Given the description of an element on the screen output the (x, y) to click on. 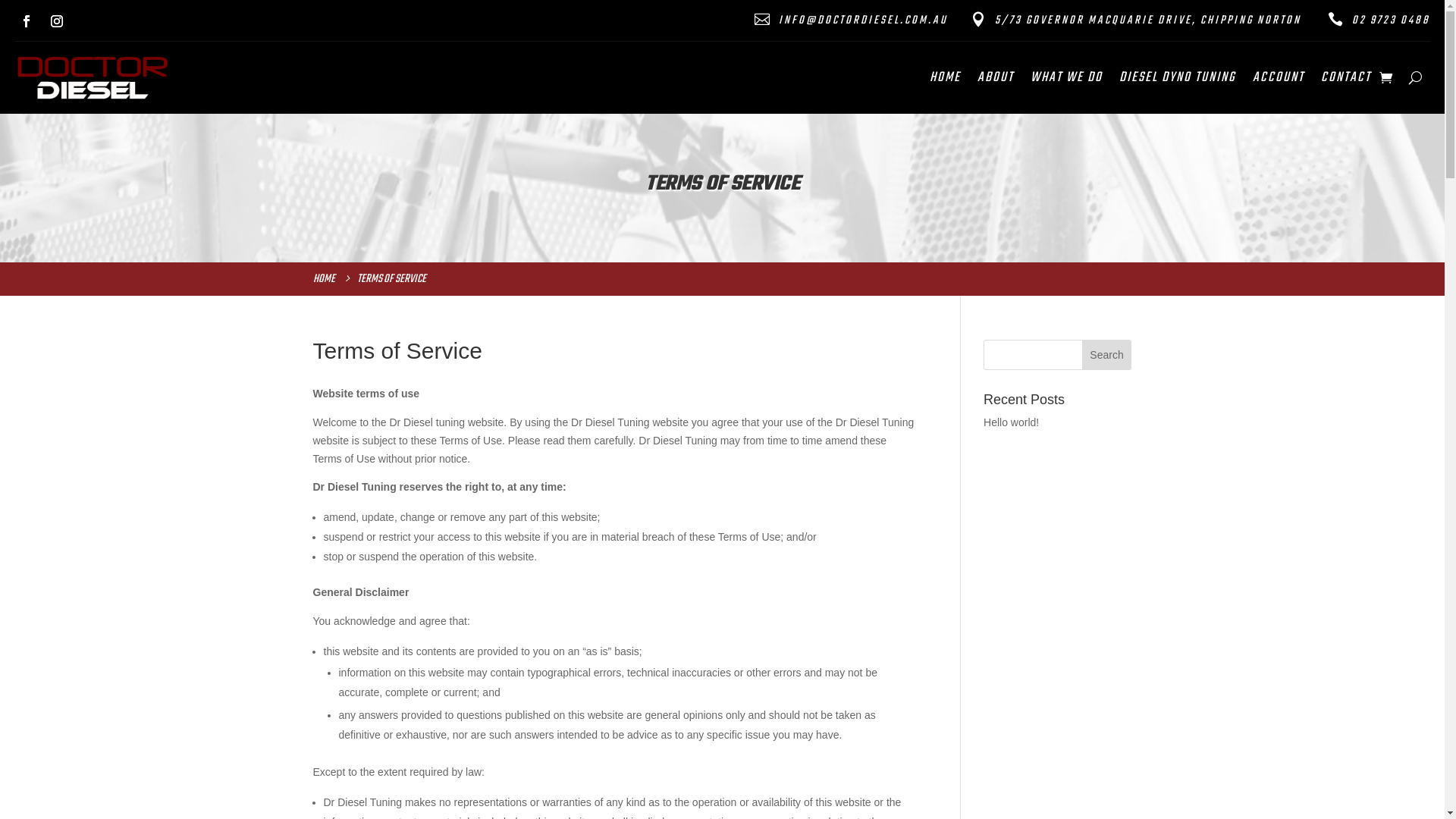
ABOUT Element type: text (995, 80)
Hello world! Element type: text (1010, 422)
Follow on Instagram Element type: hover (56, 21)
Follow on Facebook Element type: hover (26, 21)
WHAT WE DO Element type: text (1066, 80)
Search Element type: text (1107, 354)
ACCOUNT Element type: text (1278, 80)
DIESEL DYNO TUNING Element type: text (1177, 80)
HOME Element type: text (944, 80)
DOCTOR-DIESEL Element type: hover (92, 77)
HOME Element type: text (325, 278)
CONTACT Element type: text (1346, 80)
